Given the description of an element on the screen output the (x, y) to click on. 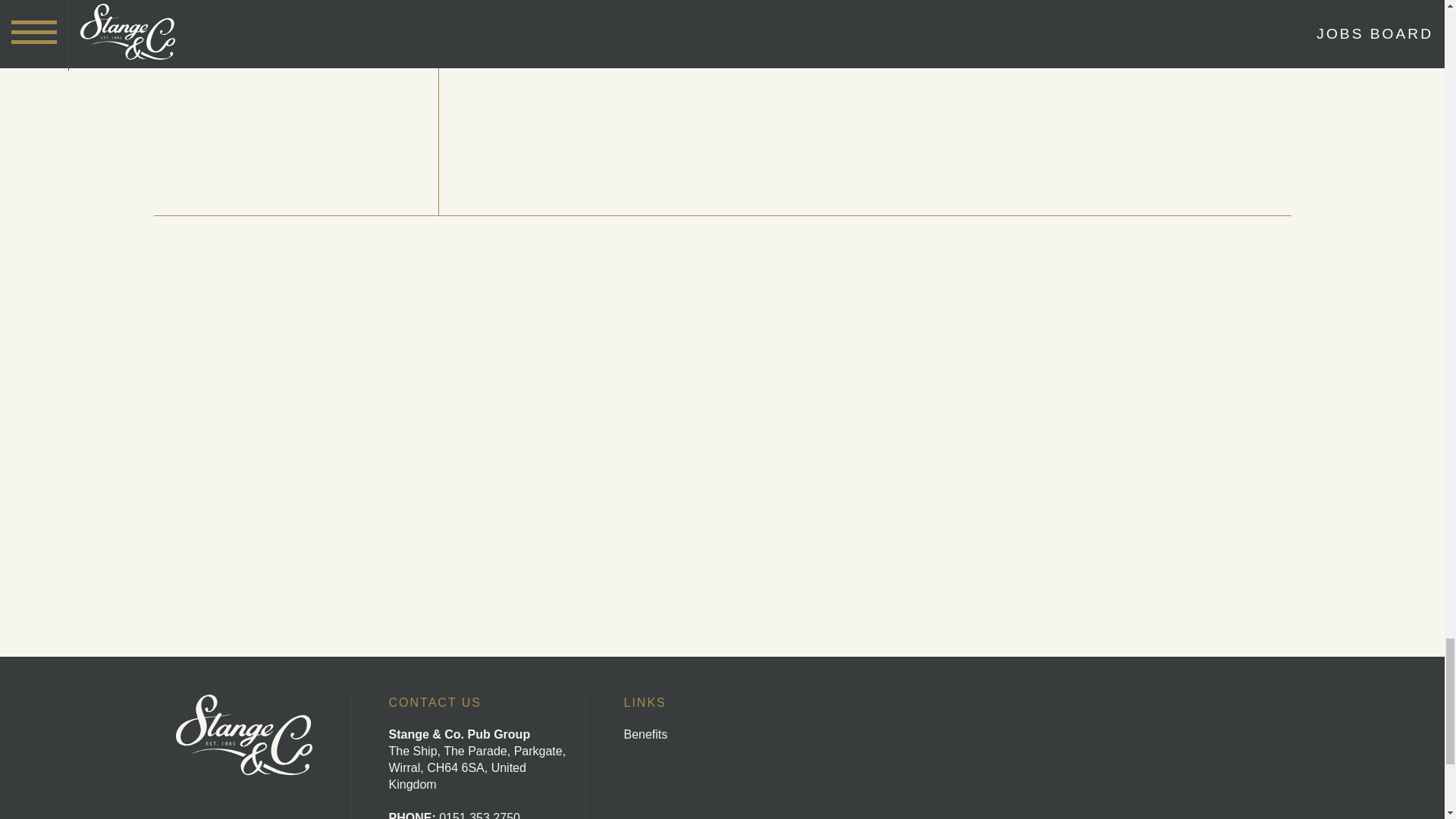
Benefits (644, 734)
